Given the description of an element on the screen output the (x, y) to click on. 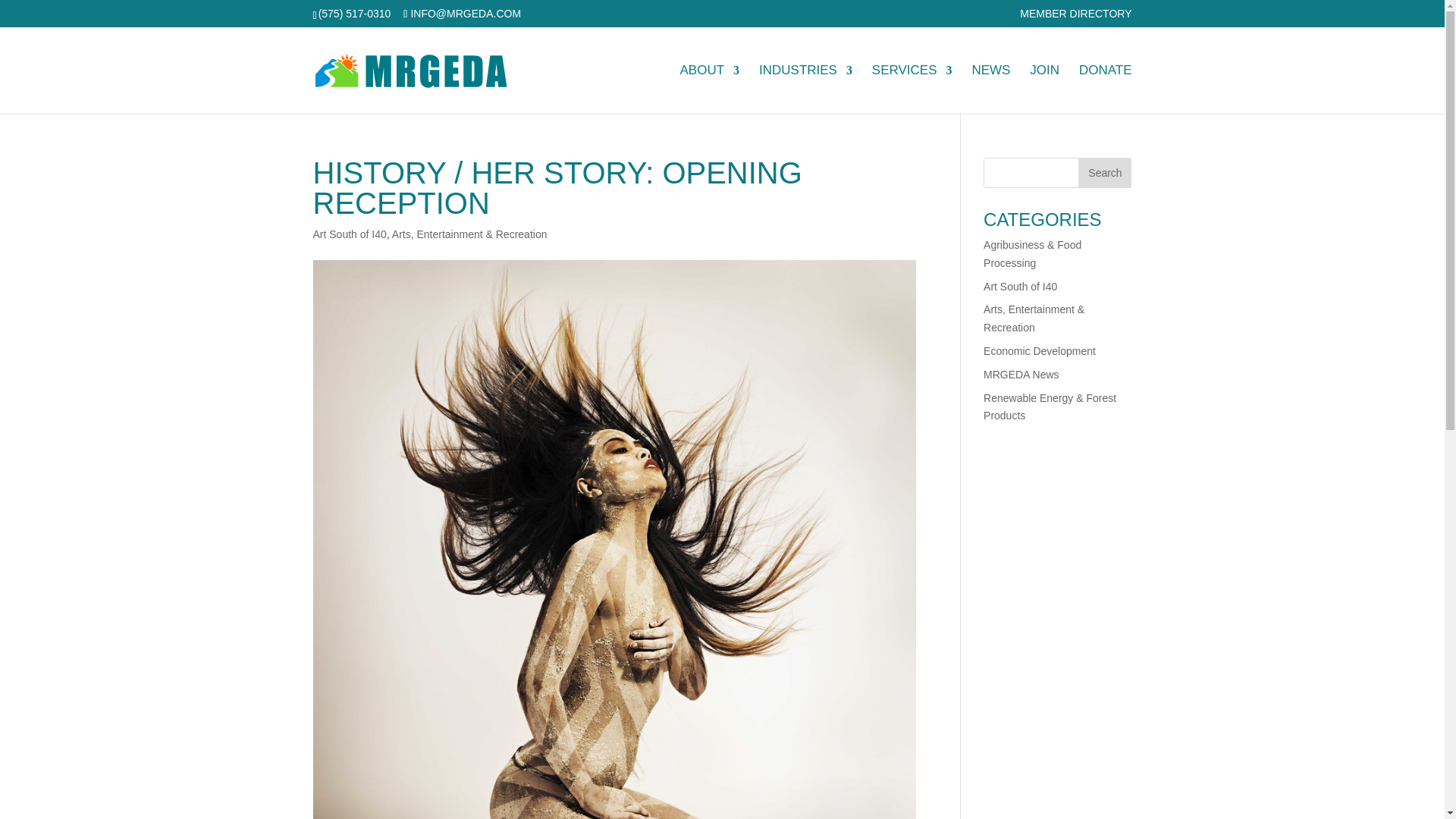
ABOUT (709, 89)
MEMBER DIRECTORY (1075, 16)
Search (1104, 173)
INDUSTRIES (804, 89)
Art South of I40 (349, 234)
Art South of I40 (1020, 286)
SERVICES (912, 89)
DONATE (1105, 89)
Search (1104, 173)
